Given the description of an element on the screen output the (x, y) to click on. 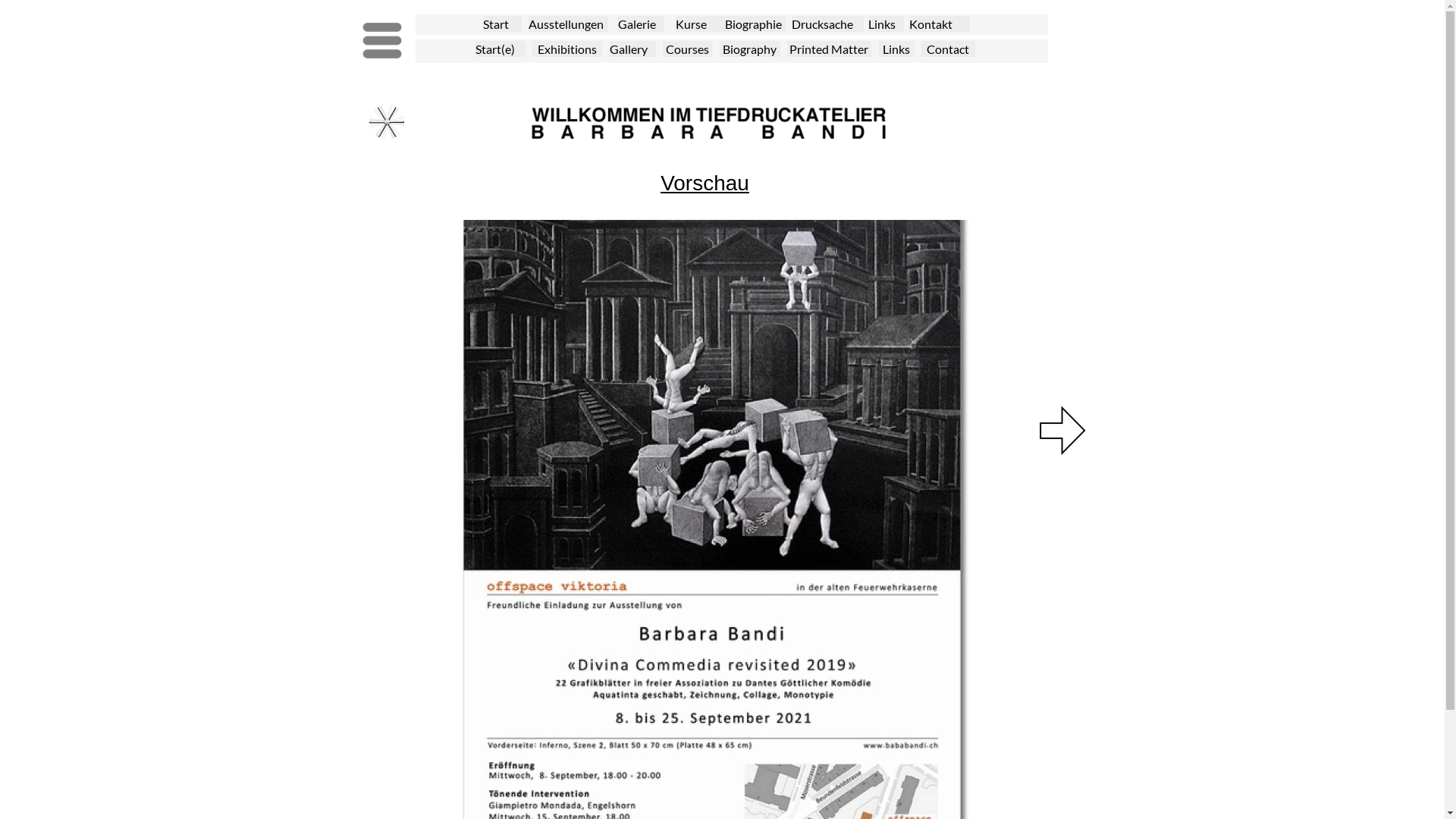
Vorschau Element type: text (704, 182)
Gallery Element type: text (632, 49)
Ausstellungen Element type: text (567, 24)
Biography Element type: text (748, 49)
Links Element type: text (885, 24)
Exhibitions Element type: text (567, 49)
Contact Element type: text (947, 49)
Links Element type: text (895, 49)
Kontakt Element type: text (938, 24)
Printed Matter Element type: text (829, 49)
Galerie Element type: text (640, 24)
Start(e) Element type: text (499, 49)
Kurse Element type: text (699, 24)
Drucksache Element type: text (827, 24)
Courses Element type: text (687, 49)
Galerie
Ausstellungen
Drucksache
Links
Kurse
Biographie Element type: text (385, 121)
Start Element type: text (501, 24)
Biographie Element type: text (754, 24)
